Given the description of an element on the screen output the (x, y) to click on. 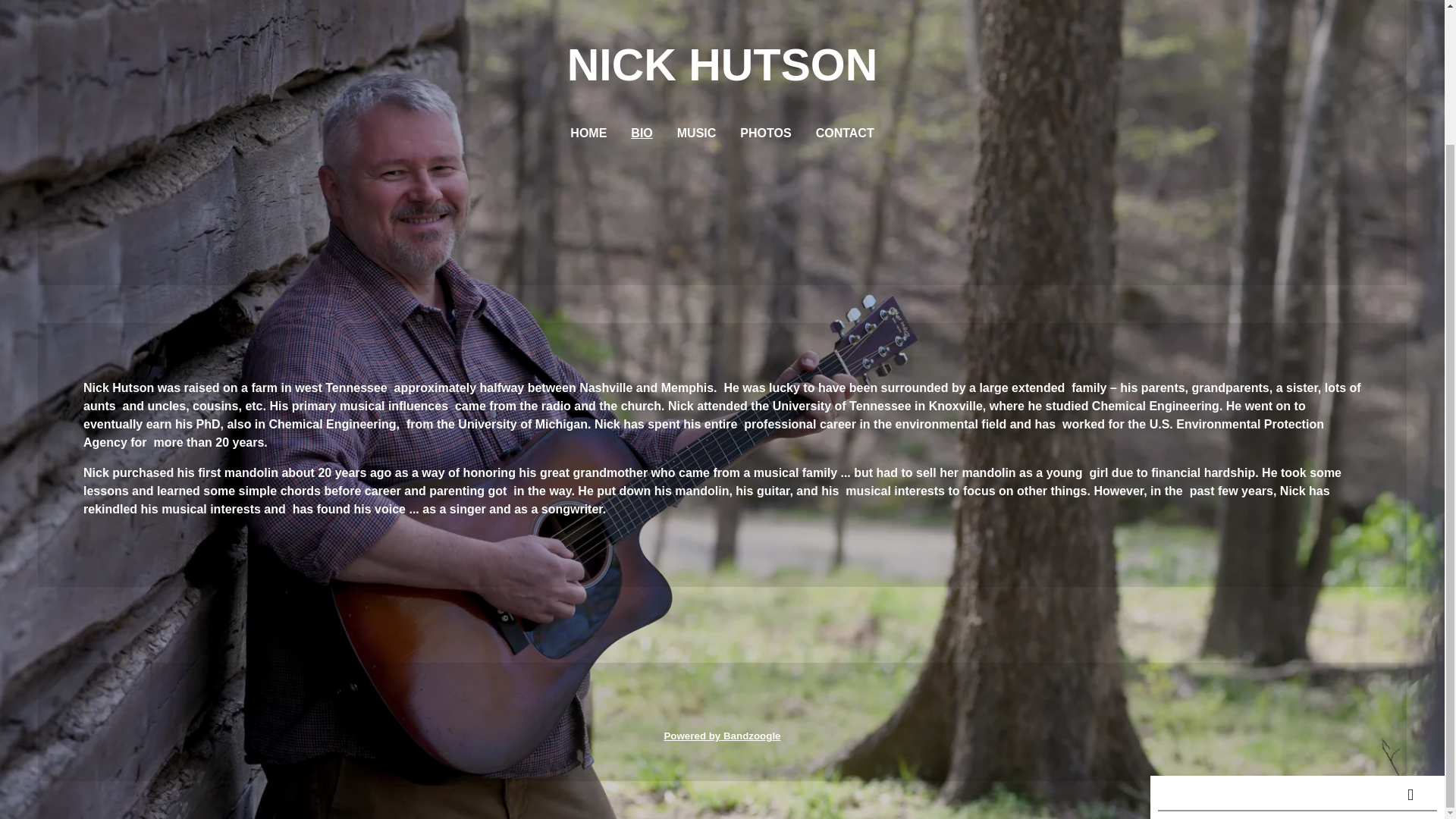
Powered by Bandzoogle (721, 736)
NICK HUTSON (722, 73)
Powered by Bandzoogle (721, 736)
MUSIC (696, 133)
BIO (641, 133)
CONTACT (845, 133)
HOME (588, 133)
PHOTOS (764, 133)
